Given the description of an element on the screen output the (x, y) to click on. 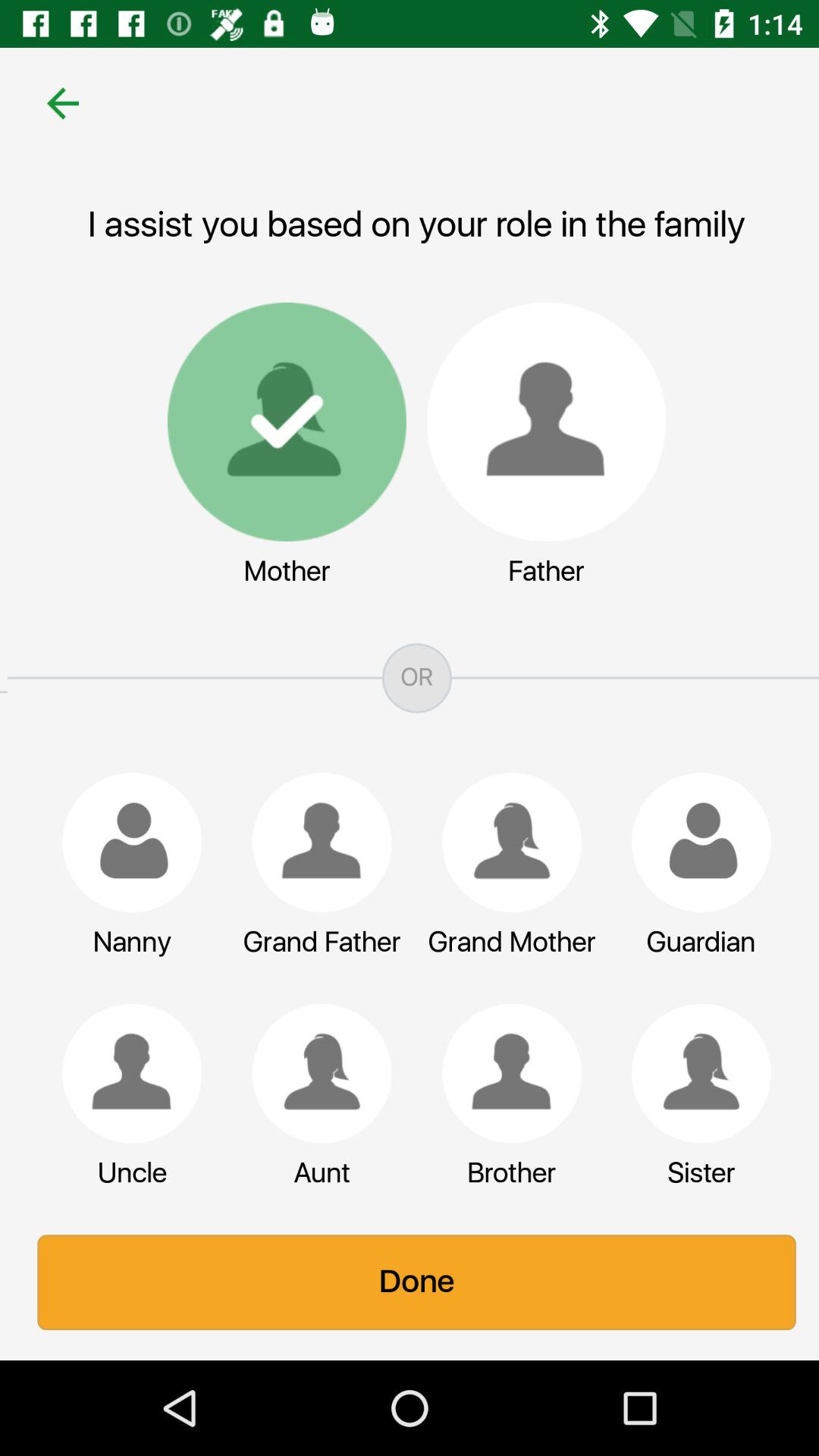
go back to previous screen (55, 103)
